Given the description of an element on the screen output the (x, y) to click on. 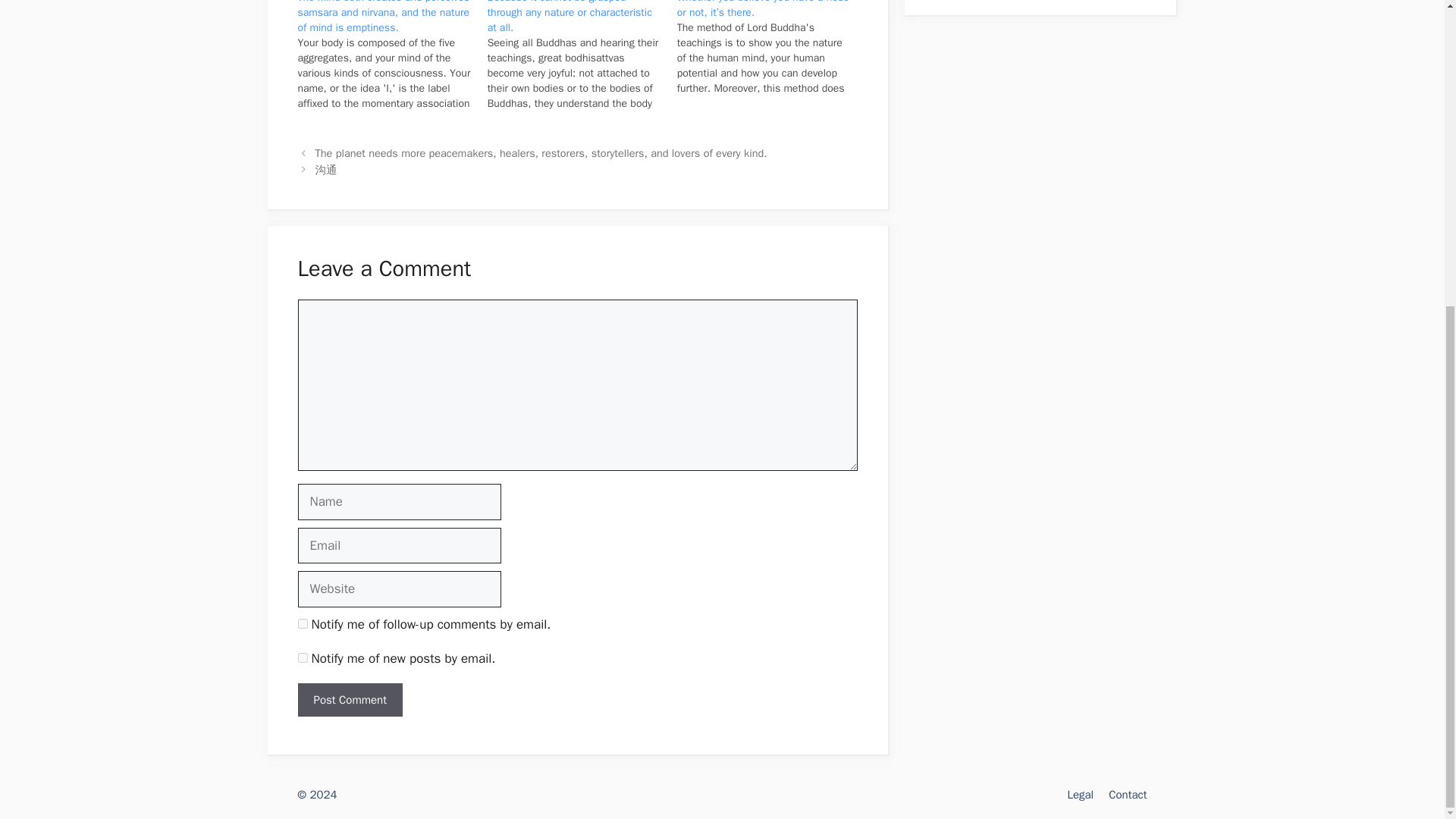
Contact (1127, 794)
Post Comment (349, 700)
Post Comment (349, 700)
Previous (541, 152)
Legal (1080, 794)
subscribe (302, 657)
